Given the description of an element on the screen output the (x, y) to click on. 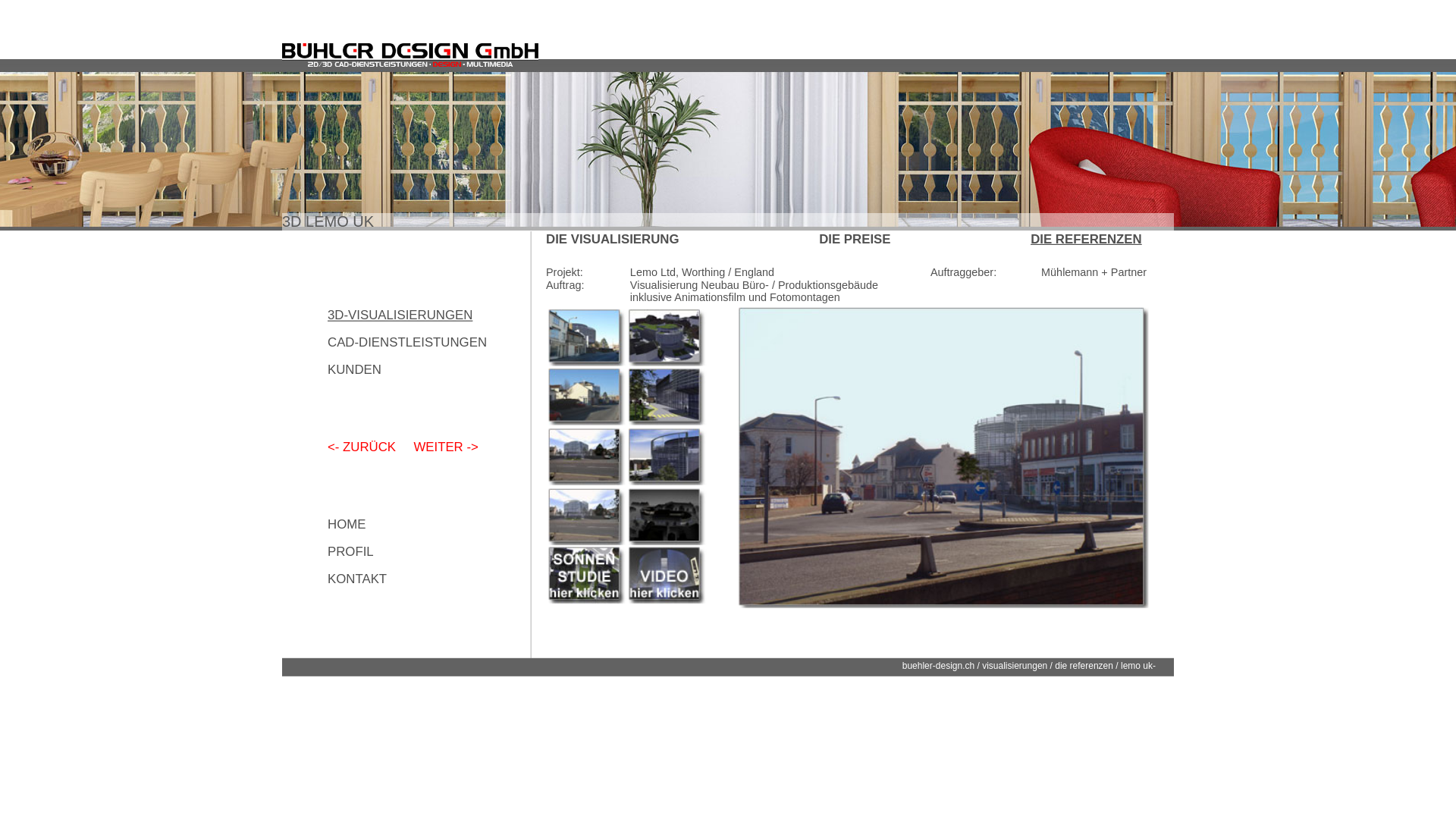
KUNDEN Element type: text (349, 368)
WEITER -> Element type: text (440, 445)
DIE PREISE Element type: text (848, 237)
3D-VISUALISIERUNGEN Element type: text (387, 313)
KONTAKT Element type: text (351, 577)
visualisierungen Element type: text (1009, 664)
HOME Element type: text (343, 523)
die referenzen Element type: text (1079, 664)
DIE REFERENZEN Element type: text (1076, 237)
PROFIL Element type: text (346, 550)
buehler-design.ch Element type: text (932, 664)
DIE VISUALISIERUNG Element type: text (601, 237)
CAD-DIENSTLEISTUNGEN Element type: text (393, 341)
